Given the description of an element on the screen output the (x, y) to click on. 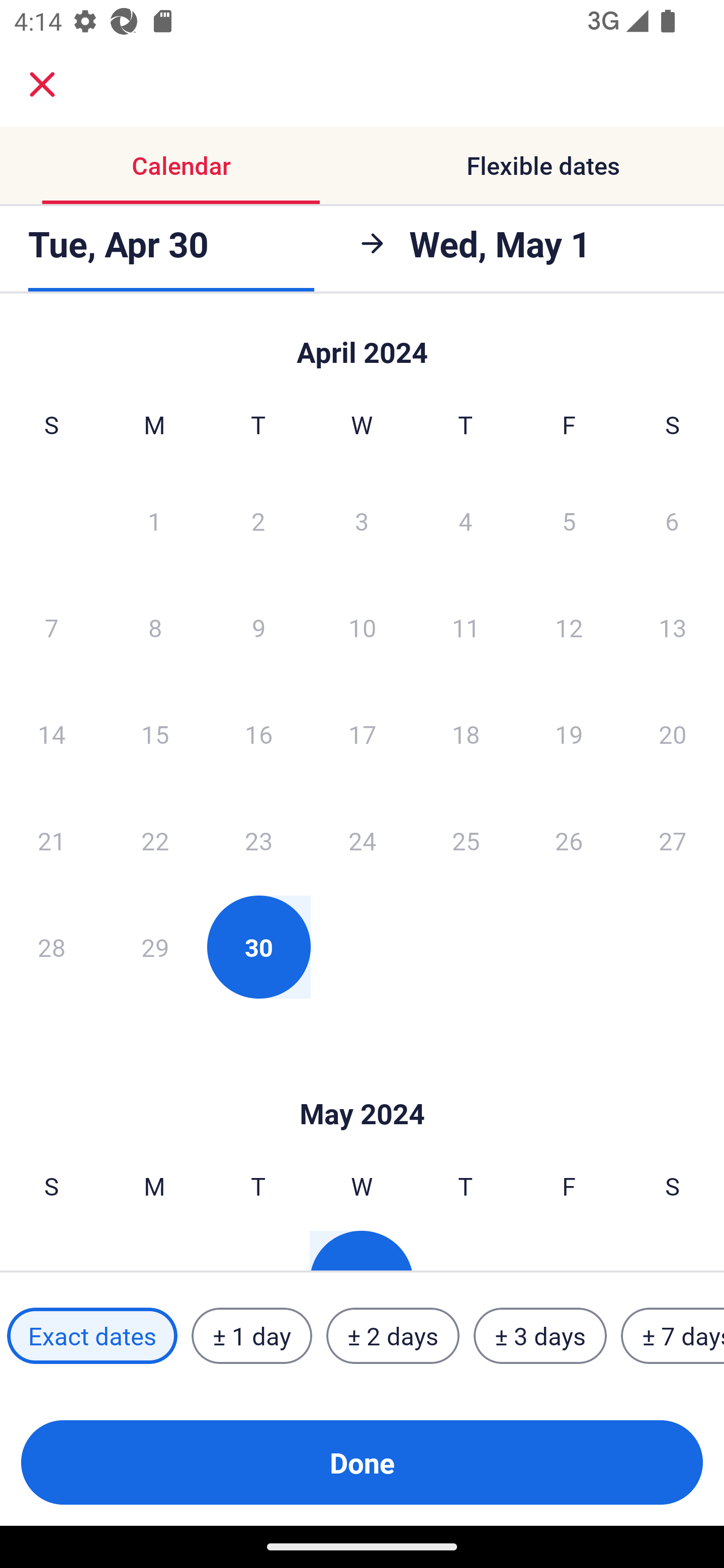
close. (42, 84)
Flexible dates (542, 164)
Skip to Done (362, 343)
1 Monday, April 1, 2024 (154, 520)
2 Tuesday, April 2, 2024 (257, 520)
3 Wednesday, April 3, 2024 (361, 520)
4 Thursday, April 4, 2024 (465, 520)
5 Friday, April 5, 2024 (568, 520)
6 Saturday, April 6, 2024 (672, 520)
7 Sunday, April 7, 2024 (51, 626)
8 Monday, April 8, 2024 (155, 626)
9 Tuesday, April 9, 2024 (258, 626)
10 Wednesday, April 10, 2024 (362, 626)
11 Thursday, April 11, 2024 (465, 626)
12 Friday, April 12, 2024 (569, 626)
13 Saturday, April 13, 2024 (672, 626)
14 Sunday, April 14, 2024 (51, 733)
15 Monday, April 15, 2024 (155, 733)
16 Tuesday, April 16, 2024 (258, 733)
17 Wednesday, April 17, 2024 (362, 733)
18 Thursday, April 18, 2024 (465, 733)
19 Friday, April 19, 2024 (569, 733)
20 Saturday, April 20, 2024 (672, 733)
21 Sunday, April 21, 2024 (51, 840)
22 Monday, April 22, 2024 (155, 840)
23 Tuesday, April 23, 2024 (258, 840)
24 Wednesday, April 24, 2024 (362, 840)
25 Thursday, April 25, 2024 (465, 840)
26 Friday, April 26, 2024 (569, 840)
27 Saturday, April 27, 2024 (672, 840)
28 Sunday, April 28, 2024 (51, 946)
29 Monday, April 29, 2024 (155, 946)
Skip to Done (362, 1083)
Exact dates (92, 1335)
± 1 day (251, 1335)
± 2 days (392, 1335)
± 3 days (539, 1335)
± 7 days (672, 1335)
Done (361, 1462)
